Given the description of an element on the screen output the (x, y) to click on. 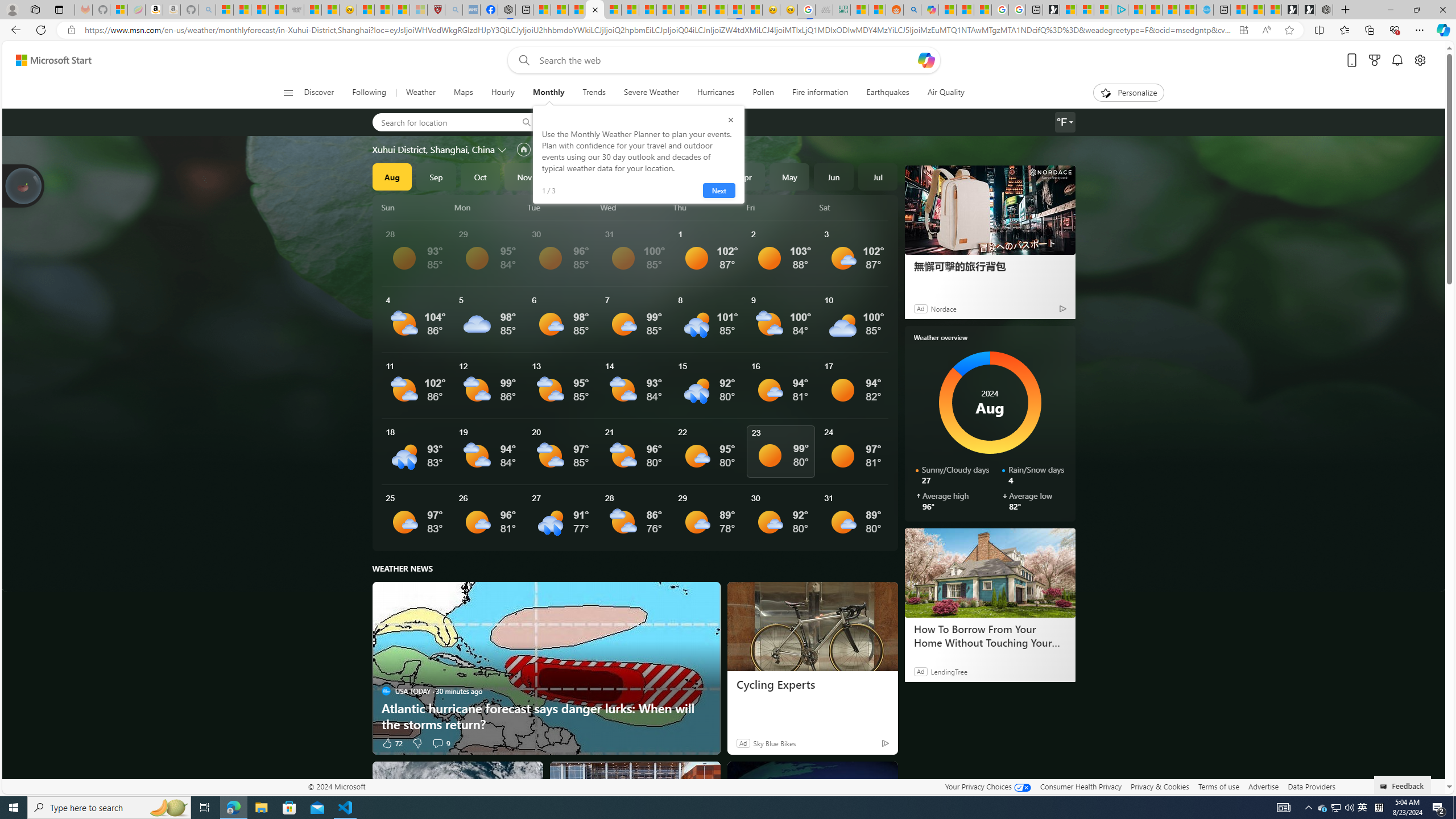
Class: button-glyph (287, 92)
Severe Weather (651, 92)
May (789, 176)
Robert H. Shmerling, MD - Harvard Health (435, 9)
Data Providers (1311, 786)
Set as primary location (522, 149)
